Given the description of an element on the screen output the (x, y) to click on. 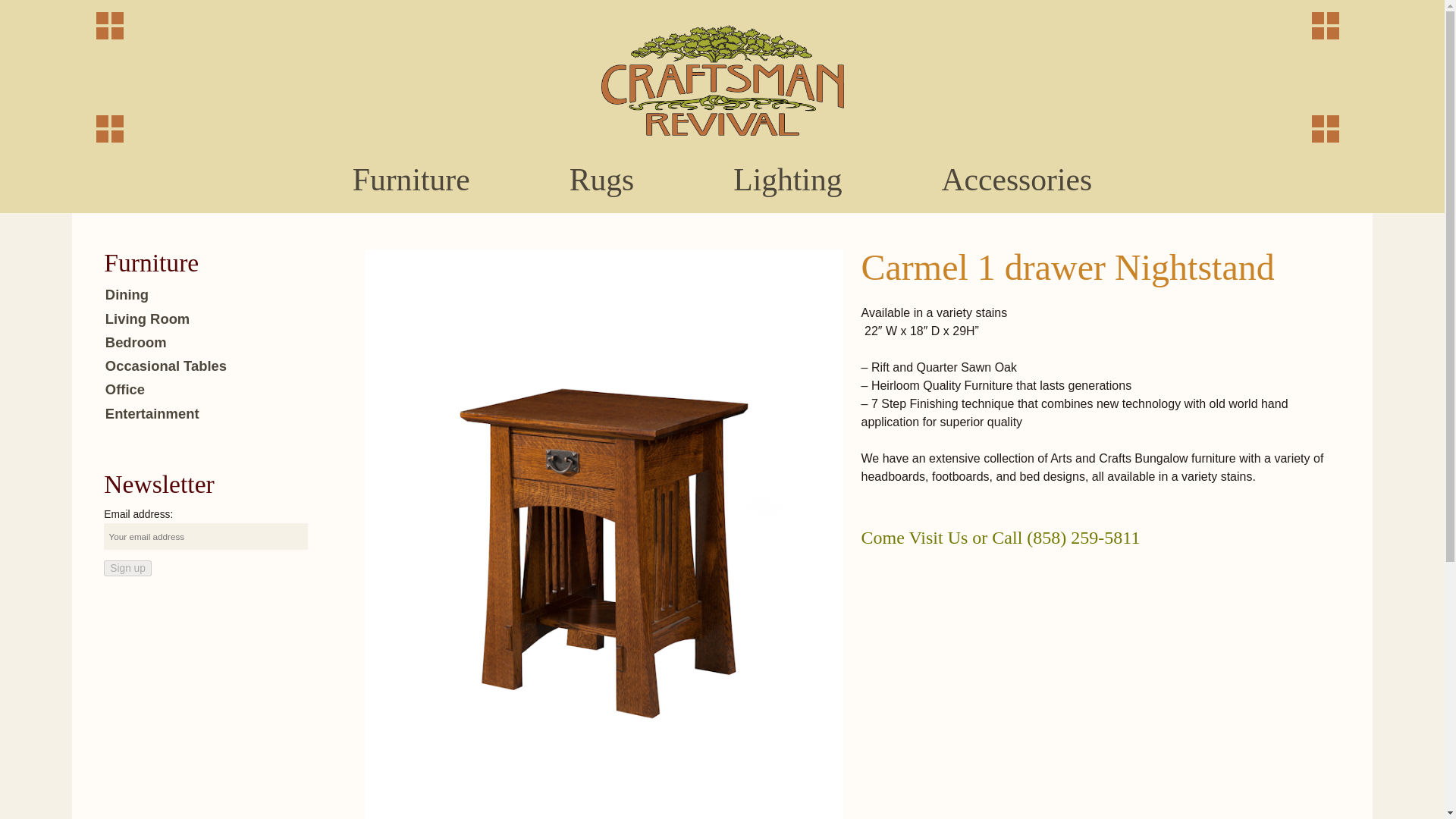
Furniture (410, 179)
Sign up (127, 568)
Living Room (146, 318)
Office (124, 389)
Sign up (127, 568)
Dining (126, 294)
Entertainment (151, 413)
Bedroom (135, 342)
Accessories (1016, 179)
Occasional Tables (165, 365)
Lighting (787, 179)
Rugs (600, 179)
